Given the description of an element on the screen output the (x, y) to click on. 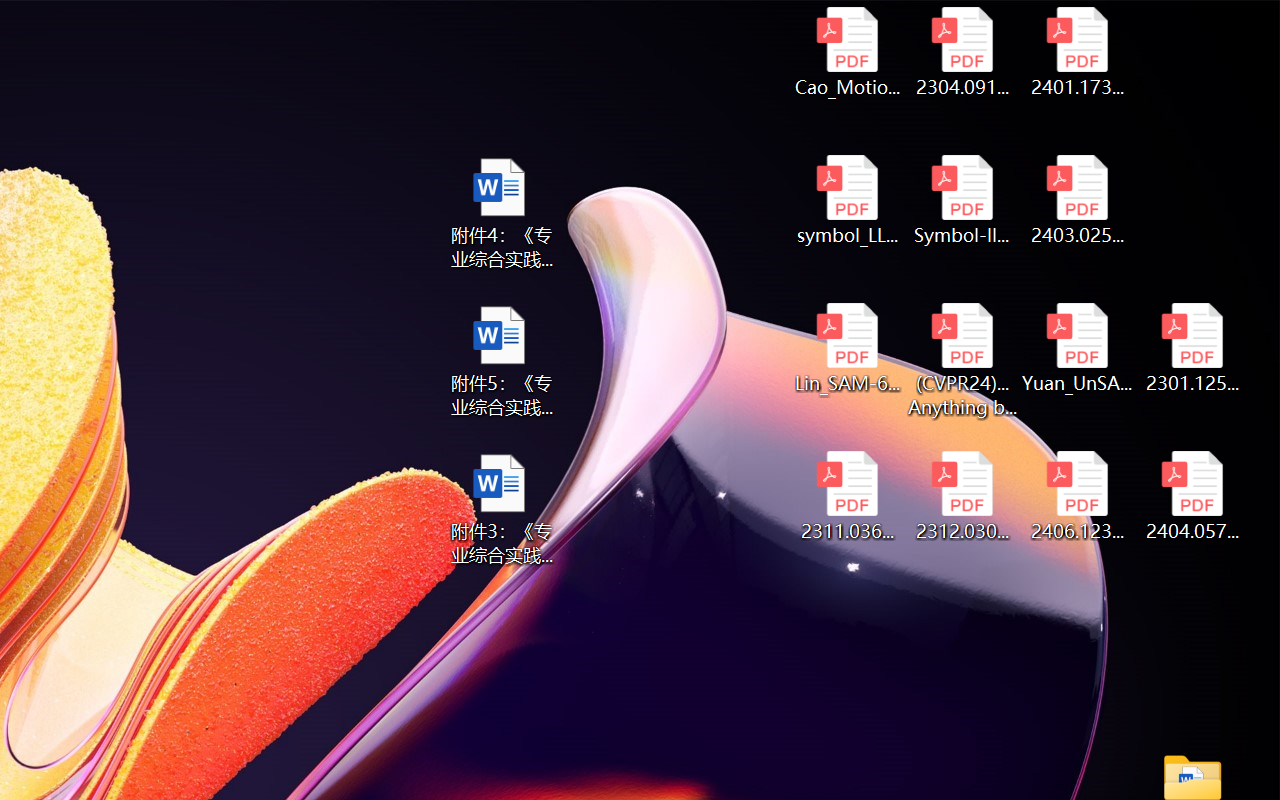
2401.17399v1.pdf (1077, 52)
2403.02502v1.pdf (1077, 200)
Symbol-llm-v2.pdf (962, 200)
2311.03658v2.pdf (846, 496)
symbol_LLM.pdf (846, 200)
2304.09121v3.pdf (962, 52)
2404.05719v1.pdf (1192, 496)
2301.12597v3.pdf (1192, 348)
2406.12373v2.pdf (1077, 496)
2312.03032v2.pdf (962, 496)
